Given the description of an element on the screen output the (x, y) to click on. 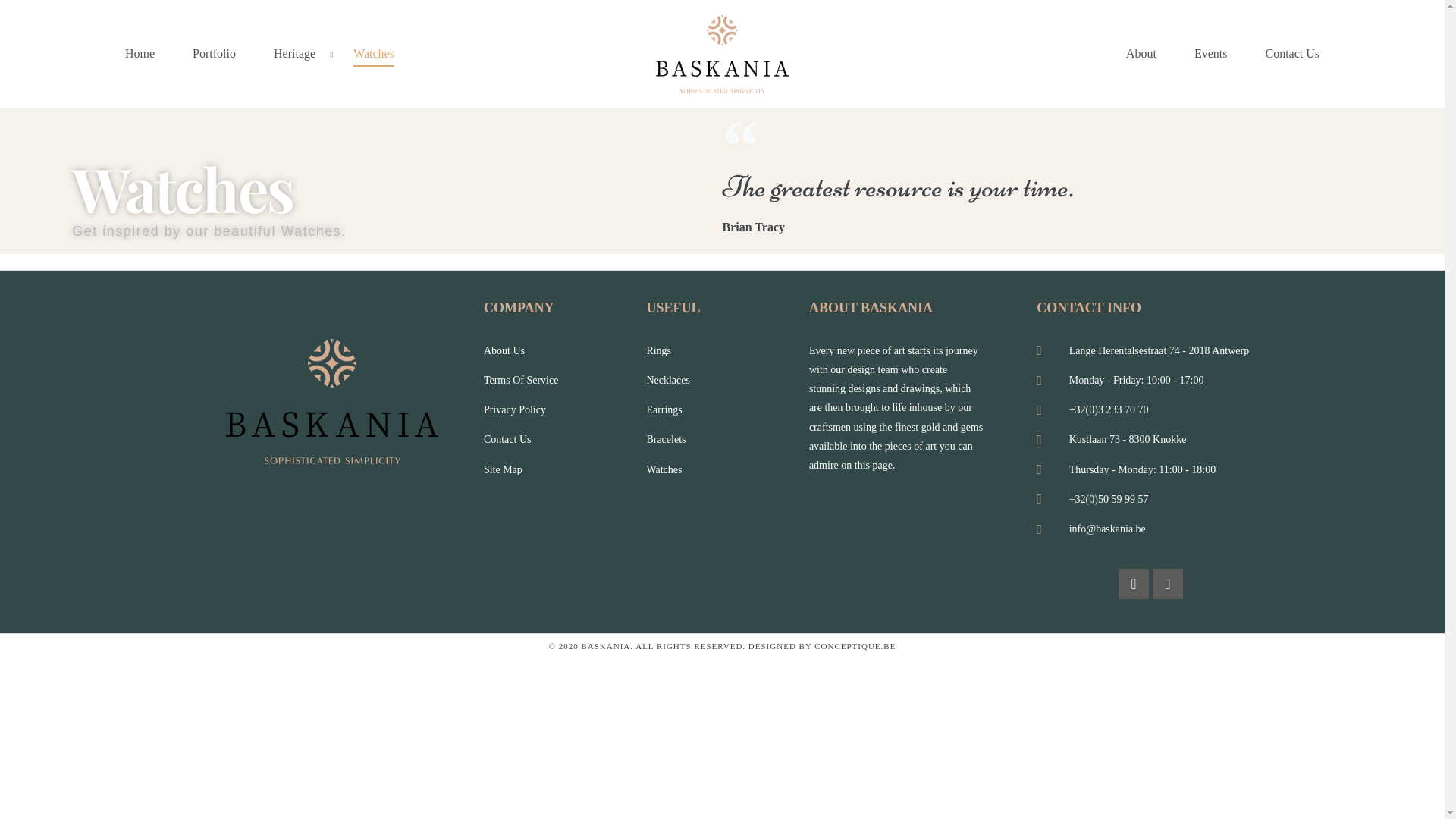
info@baskania.be Element type: text (1150, 528)
About Us Element type: text (564, 350)
Thursday - Monday: 11:00 - 18:00 Element type: text (1150, 469)
+32(0)3 233 70 70 Element type: text (1150, 409)
Rings Element type: text (727, 350)
Home Element type: text (139, 54)
About Element type: text (1141, 54)
Bracelets Element type: text (727, 438)
Events Element type: text (1210, 54)
Heritage Element type: text (294, 54)
Necklaces Element type: text (727, 379)
Contact Us Element type: text (1291, 54)
Earrings Element type: text (727, 409)
+32(0)50 59 99 57 Element type: text (1150, 498)
Kustlaan 73 - 8300 Knokke Element type: text (1150, 438)
Portfolio Element type: text (213, 54)
Terms Of Service Element type: text (564, 379)
Monday - Friday: 10:00 - 17:00 Element type: text (1150, 379)
Contact Us Element type: text (564, 438)
Watches Element type: text (373, 54)
Watches Element type: text (727, 469)
Lange Herentalsestraat 74 - 2018 Antwerp Element type: text (1150, 350)
Privacy Policy Element type: text (564, 409)
